Given the description of an element on the screen output the (x, y) to click on. 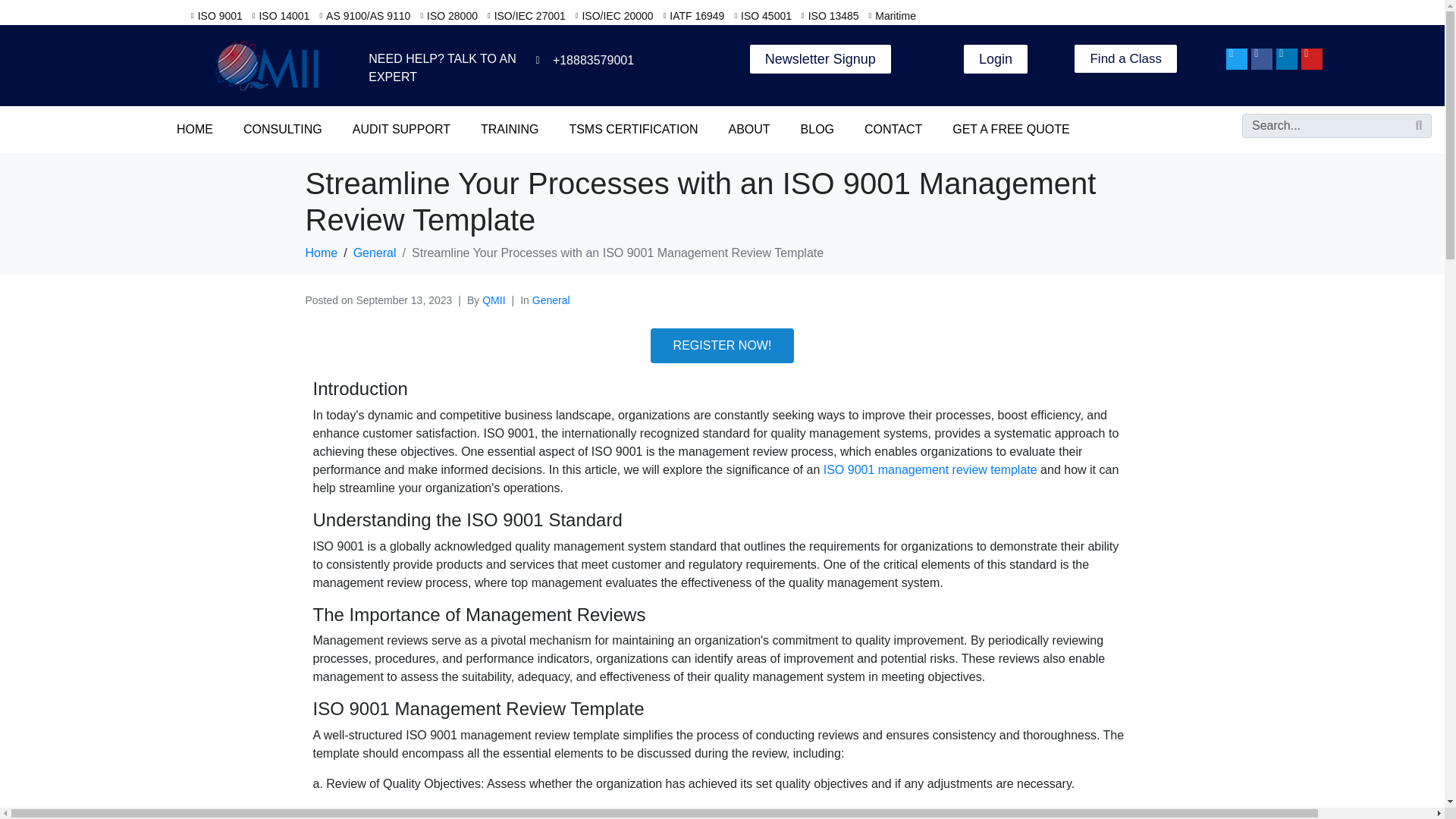
HOME (194, 129)
IATF 16949 (694, 15)
ISO 28000 (448, 15)
ISO 13485 (830, 15)
ISO 45001 (762, 15)
ISO 9001 (216, 15)
CONSULTING (282, 129)
ISO 14001 (280, 15)
Login (995, 59)
Maritime (892, 15)
Newsletter Signup (820, 59)
Find a Class (1125, 58)
